Given the description of an element on the screen output the (x, y) to click on. 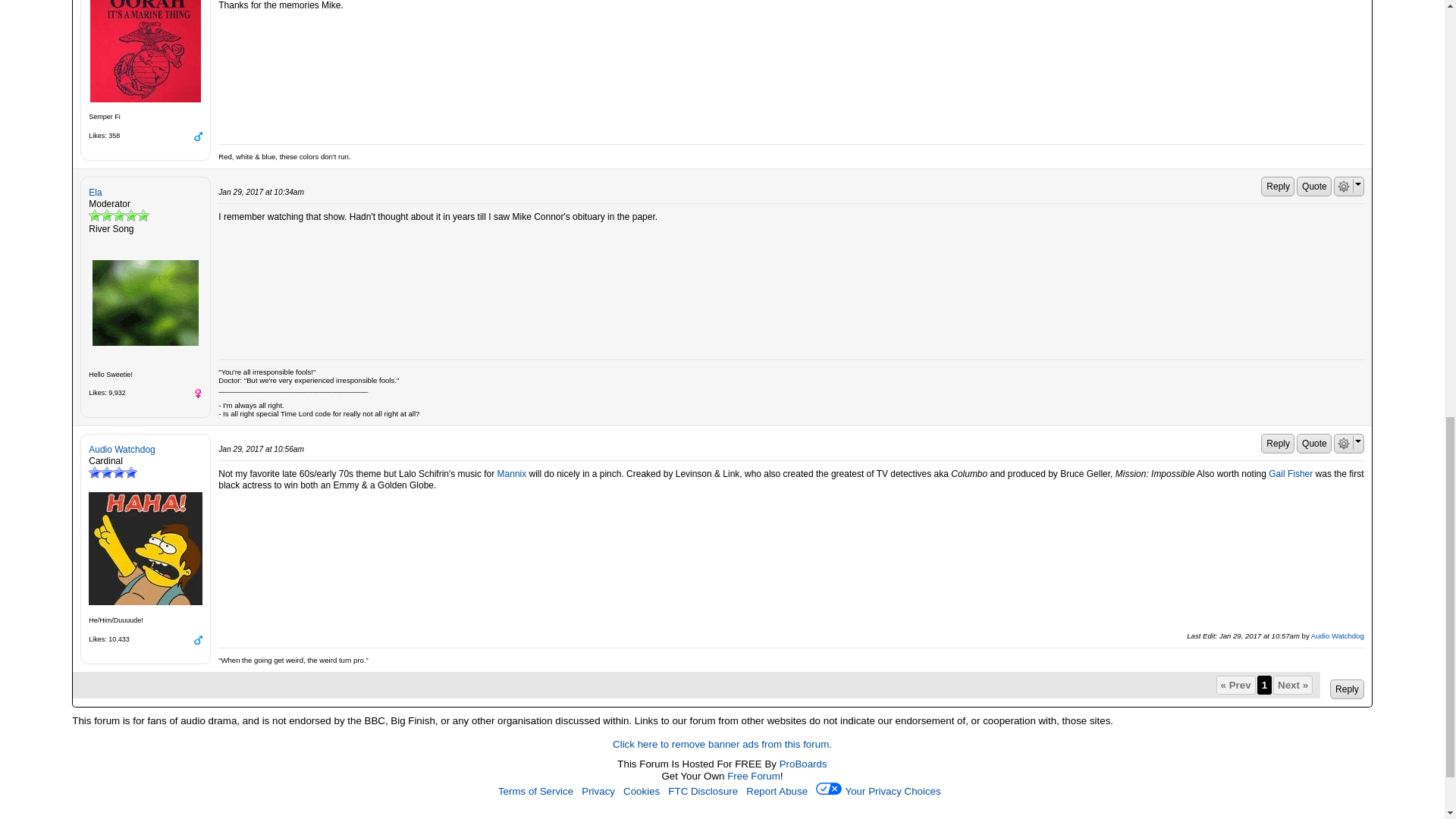
ulyssessarcher (145, 51)
Male (197, 135)
